Given the description of an element on the screen output the (x, y) to click on. 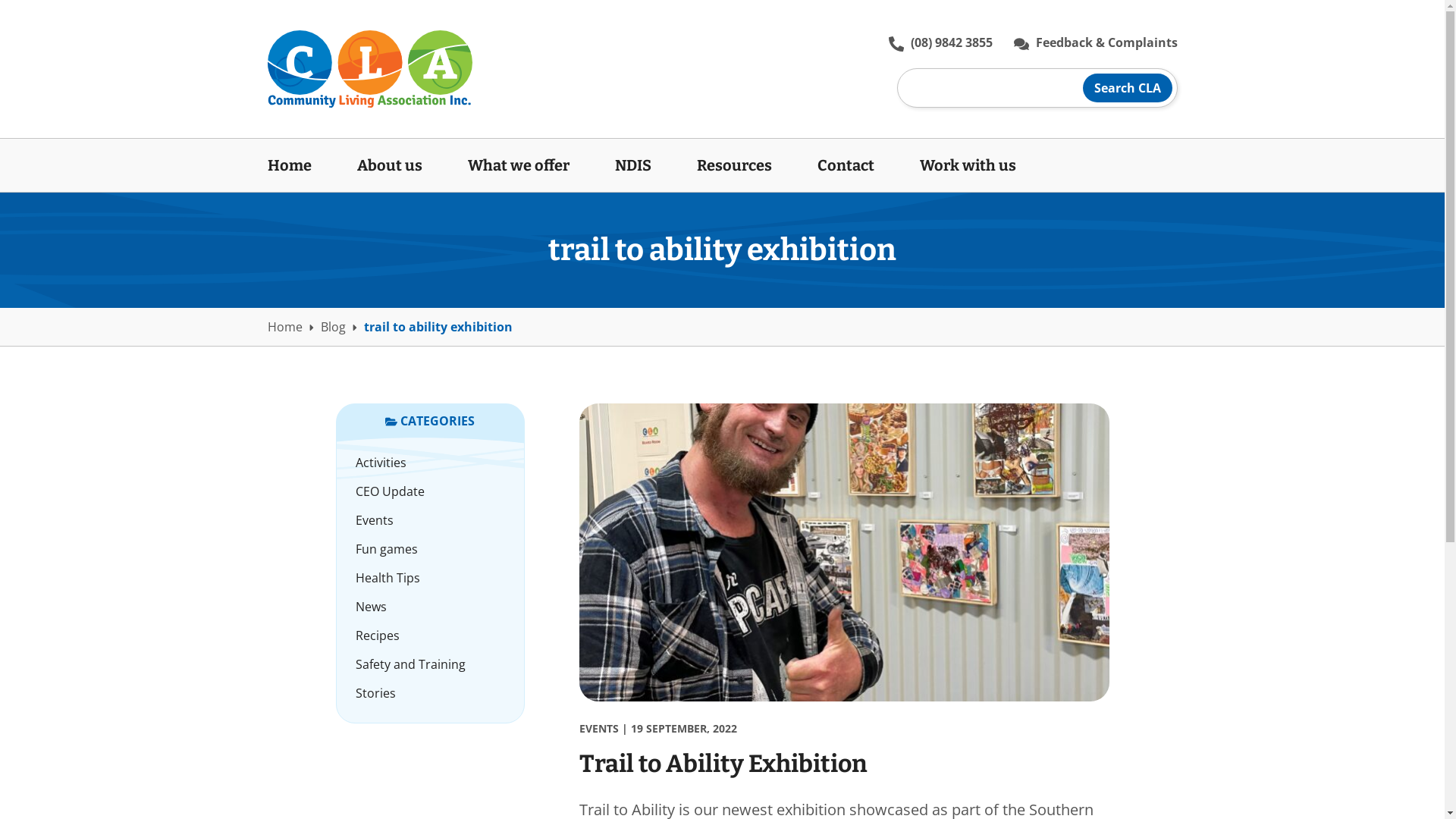
Trail to Ability Exhibition Element type: text (723, 763)
Home Element type: text (299, 164)
Activities Element type: text (430, 462)
CEO Update Element type: text (430, 490)
Feedback & Complaints Element type: text (1094, 42)
About us Element type: text (388, 164)
Community Living Association Inc. Element type: hover (368, 68)
Safety and Training Element type: text (430, 663)
Home Element type: text (283, 326)
Contact Element type: text (845, 164)
What we offer Element type: text (517, 164)
Stories Element type: text (430, 692)
Health Tips Element type: text (430, 577)
Resources Element type: text (733, 164)
Work with us Element type: text (955, 164)
News Element type: text (430, 606)
(08) 9842 3855 Element type: text (940, 42)
Events Element type: text (430, 519)
Search for: Element type: hover (1036, 87)
Fun games Element type: text (430, 548)
NDIS Element type: text (632, 164)
EVENTS Element type: text (598, 728)
Search CLA Element type: text (1127, 87)
Blog Element type: text (332, 326)
Recipes Element type: text (430, 635)
